Given the description of an element on the screen output the (x, y) to click on. 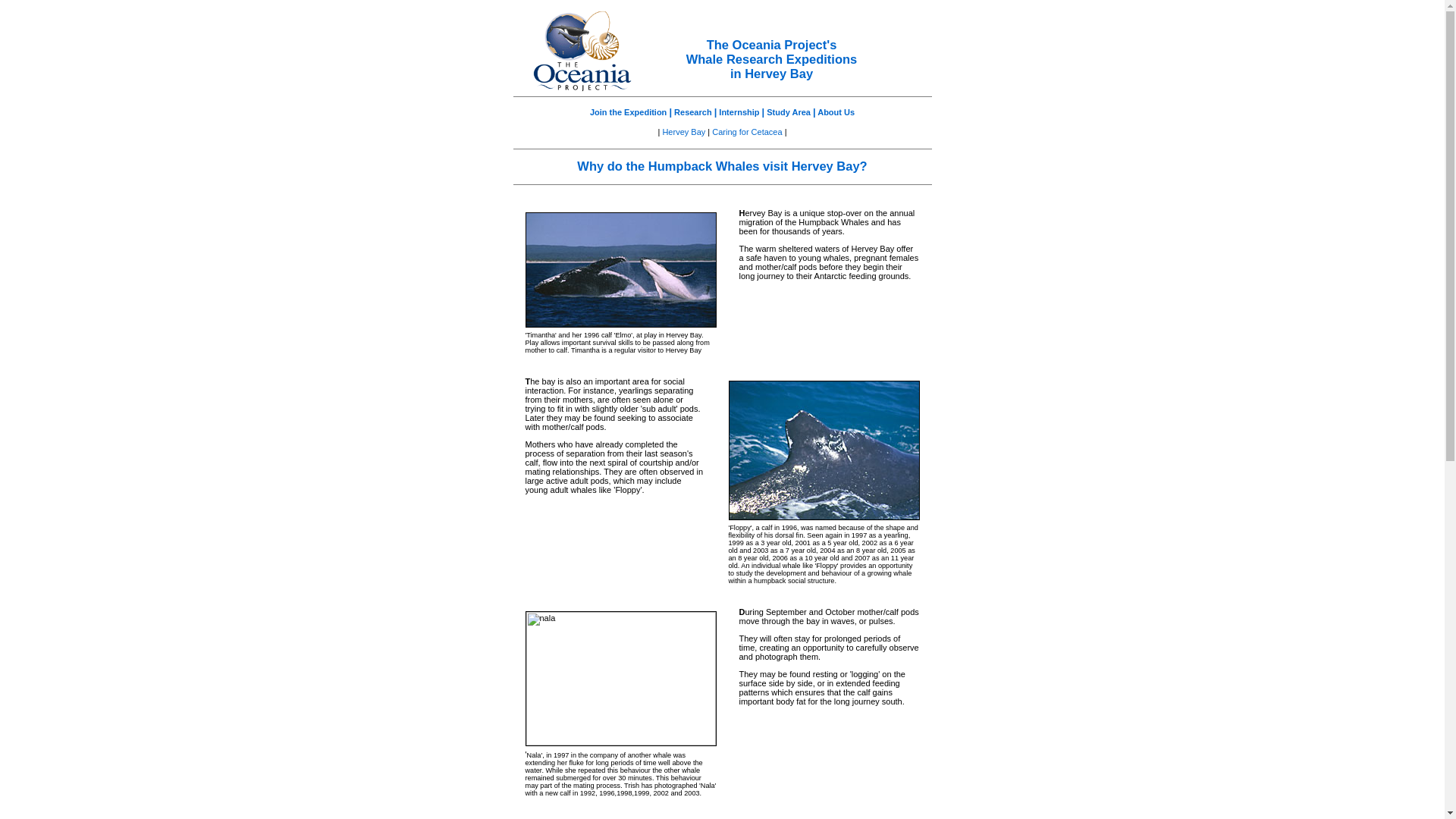
Study Area (788, 112)
Hervey Bay (683, 131)
About Us (835, 112)
Join the Expedition (629, 112)
Internship (738, 112)
Caring for Cetacea (747, 131)
Research (692, 112)
